Given the description of an element on the screen output the (x, y) to click on. 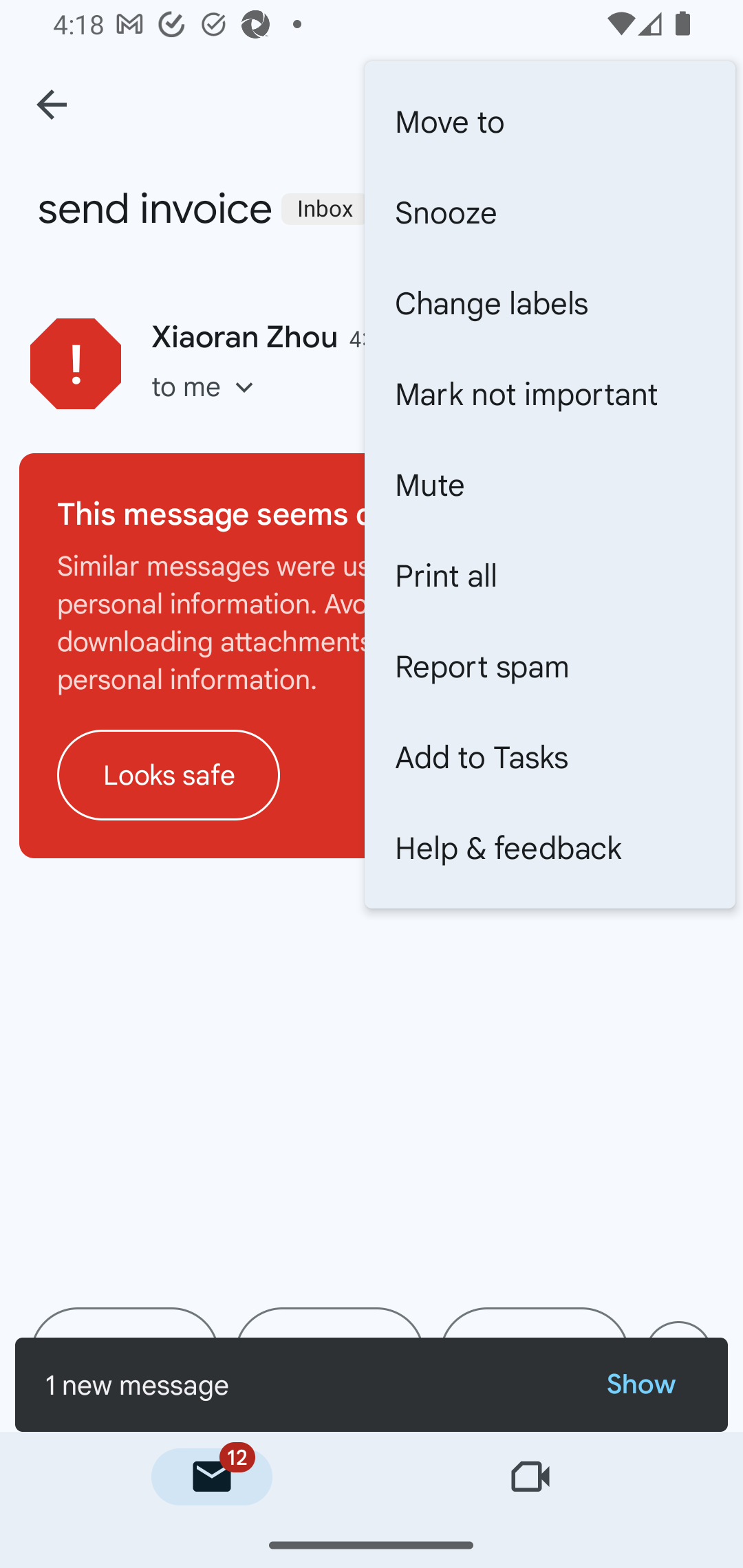
Move to (549, 121)
Snooze (549, 212)
Change labels (549, 302)
Mark not important (549, 393)
Mute (549, 484)
Print all (549, 574)
Report spam (549, 665)
Add to Tasks (549, 756)
Help & feedback (549, 847)
